Given the description of an element on the screen output the (x, y) to click on. 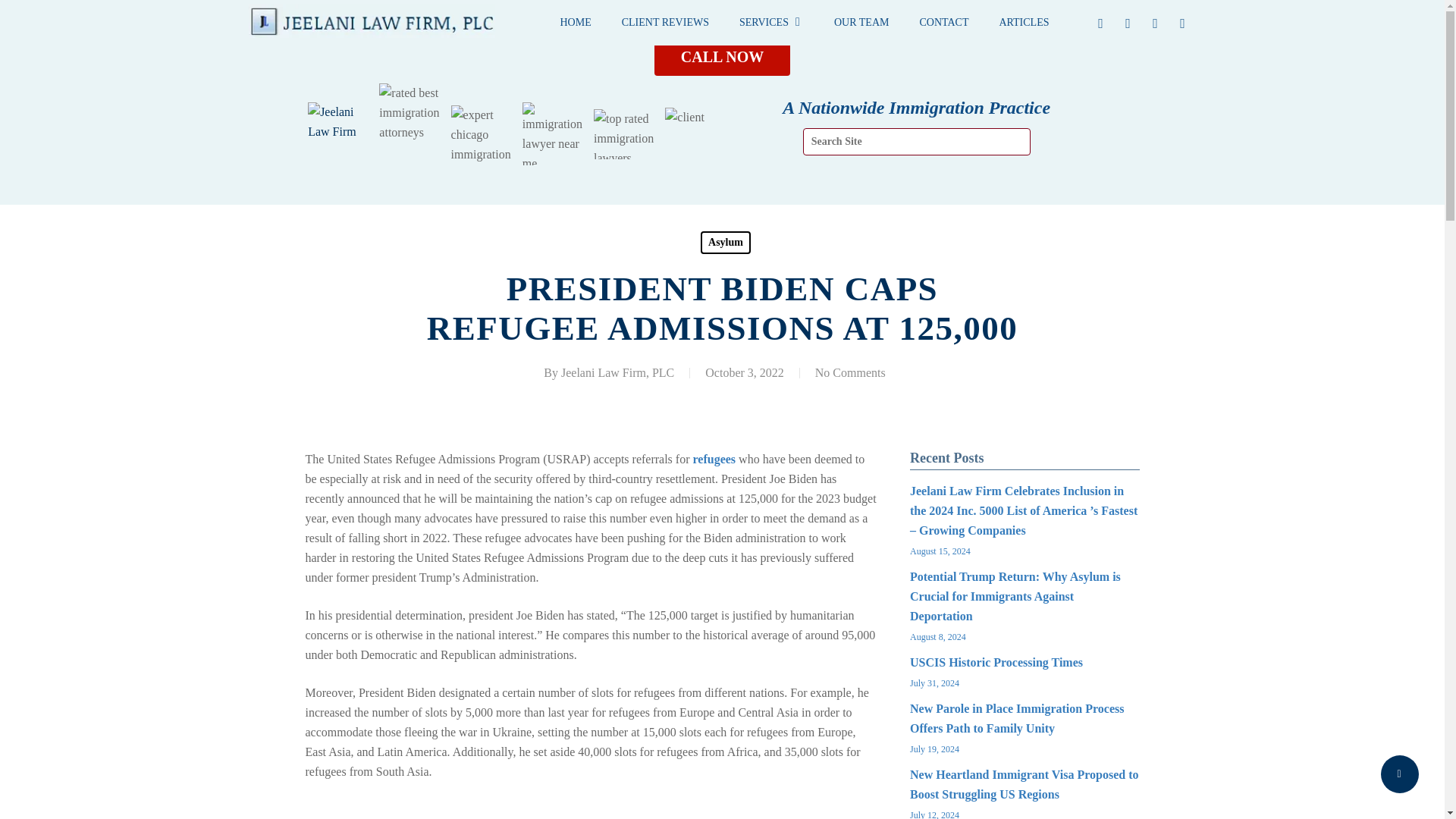
CONTACT (944, 22)
LINKEDIN (1128, 22)
FACEBOOK (1101, 22)
YOUTUBE (1155, 22)
HOME (574, 22)
ARTICLES (1024, 22)
Posts by Jeelani Law Firm, PLC (617, 372)
OUR TEAM (861, 22)
SERVICES (770, 22)
CLIENT REVIEWS (665, 22)
